Given the description of an element on the screen output the (x, y) to click on. 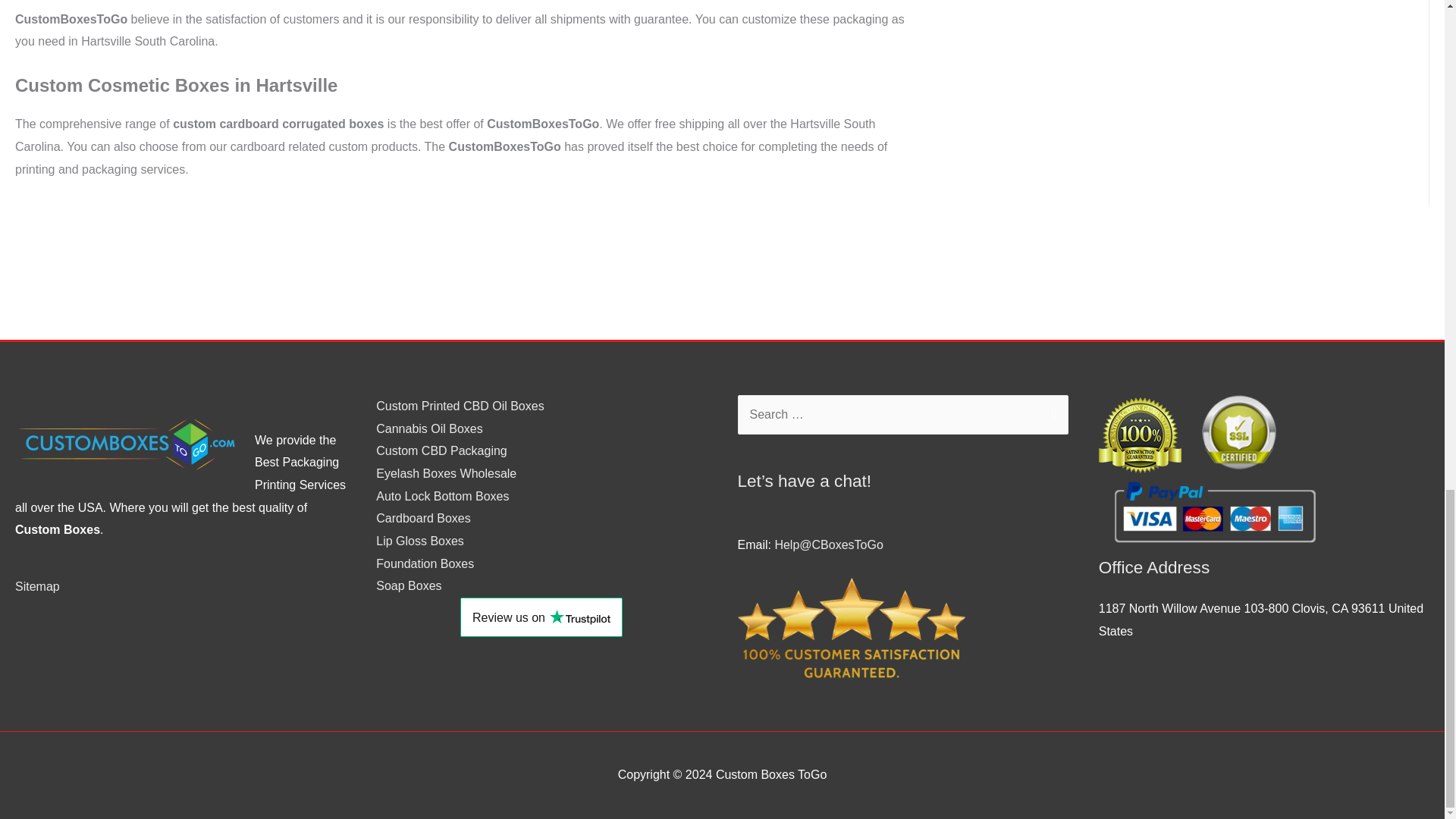
Lip Gloss Boxes (419, 540)
Foundation Boxes (424, 563)
Soap Boxes (408, 585)
Customer reviews powered by Trustpilot (540, 617)
Sitemap (36, 585)
Cannabis Oil Boxes (429, 428)
Cardboard Boxes (422, 517)
Custom Printed CBD Oil Boxes (459, 405)
Custom CBD Packaging (440, 450)
Auto Lock Bottom Boxes (441, 495)
